Given the description of an element on the screen output the (x, y) to click on. 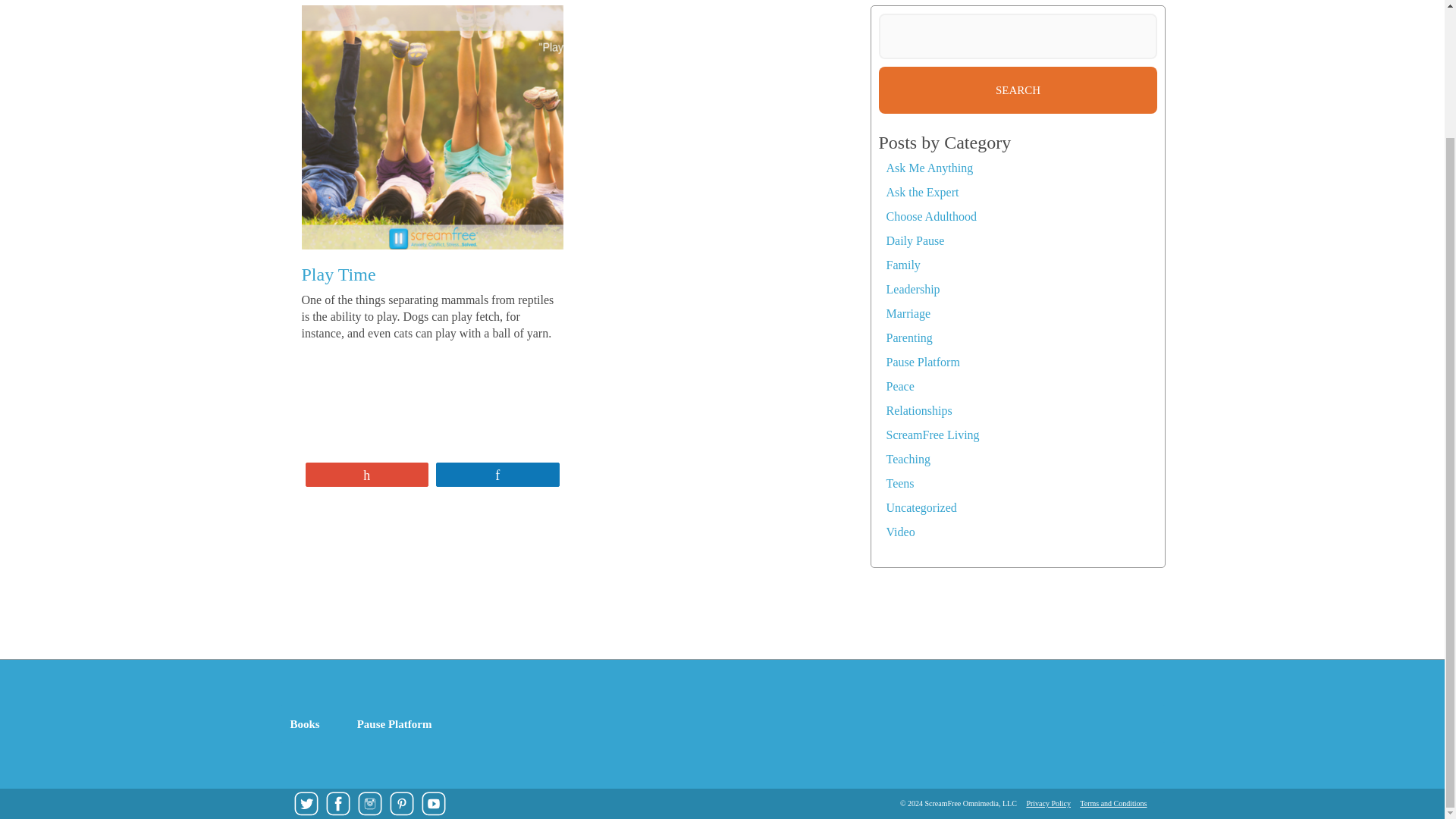
Play Time (338, 274)
Uncategorized (920, 507)
Family (902, 264)
Leadership (912, 288)
Books (309, 723)
Daily Pause (914, 240)
ScreamFree Living (931, 434)
Ask Me Anything (928, 167)
Video (899, 531)
Parenting (908, 337)
Peace (899, 386)
Choose Adulthood (930, 215)
Pause Platform (922, 361)
Ask the Expert (921, 192)
Relationships (918, 410)
